Given the description of an element on the screen output the (x, y) to click on. 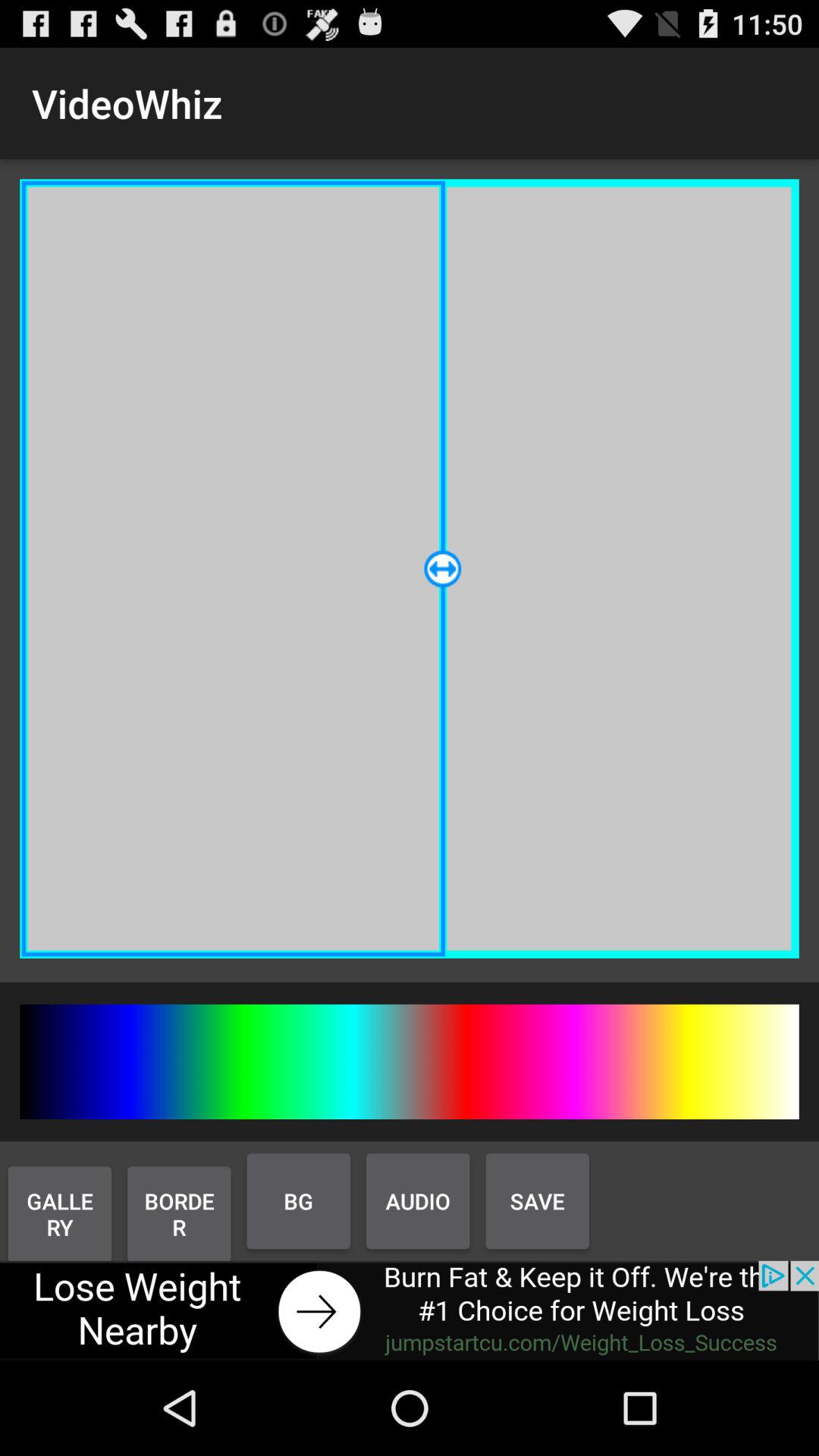
click to visit advertiser (409, 1310)
